Given the description of an element on the screen output the (x, y) to click on. 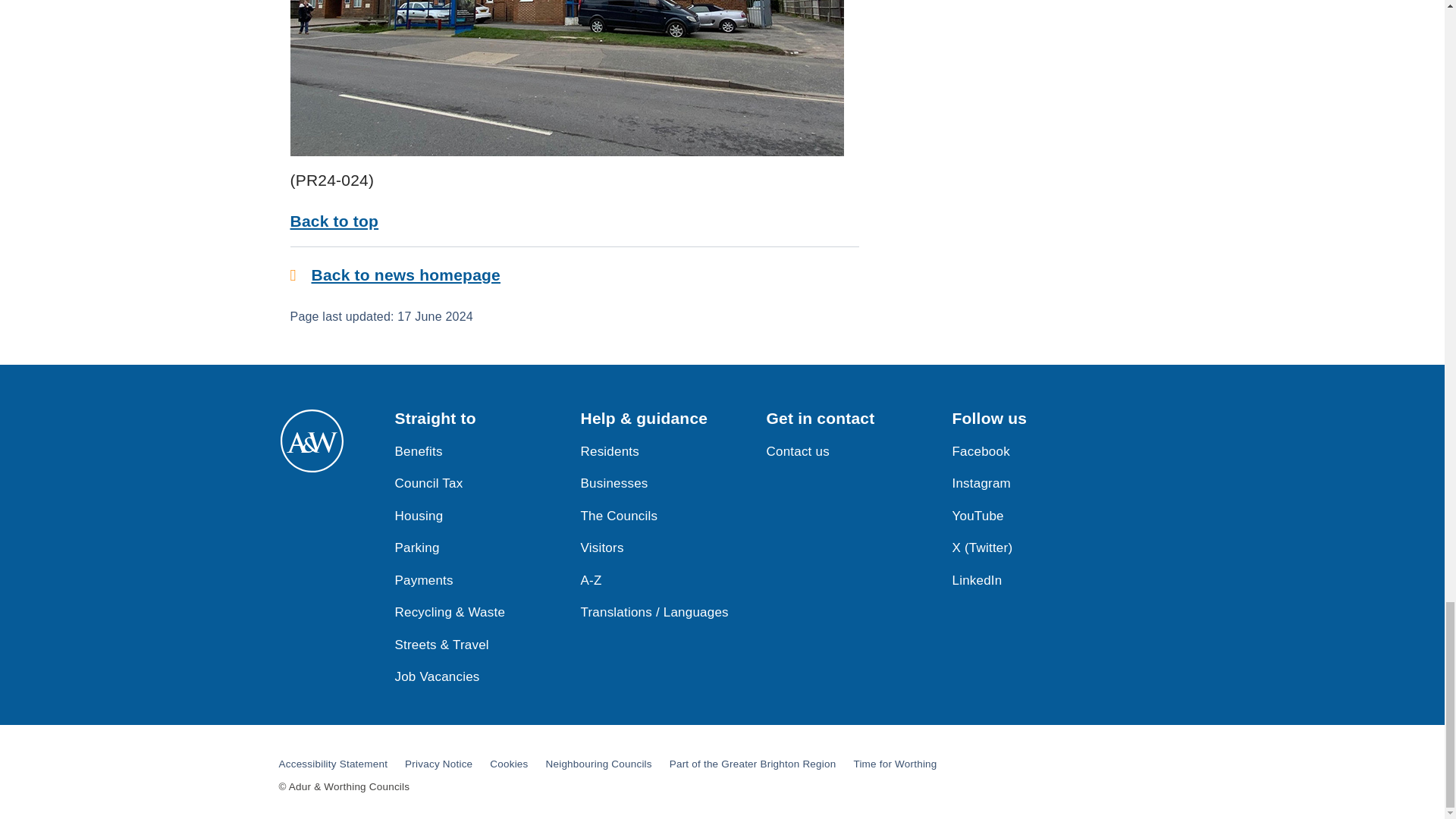
Parking (416, 547)
Back to top (333, 221)
Council Tax (428, 482)
Back to news homepage (405, 275)
Benefits (418, 450)
Payments (423, 580)
News (405, 275)
Housing (418, 515)
